Given the description of an element on the screen output the (x, y) to click on. 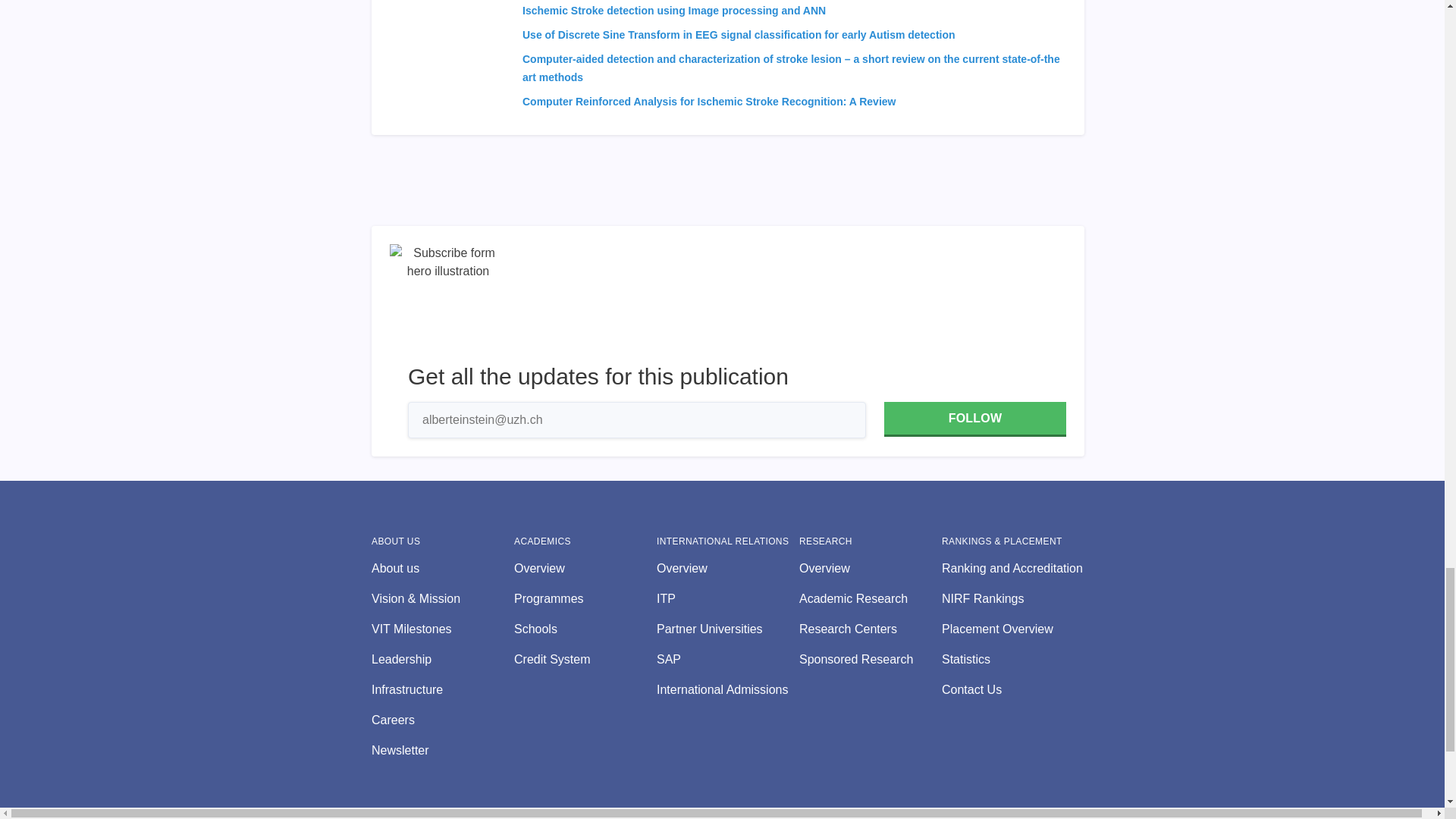
Credit System (584, 659)
Programmes (584, 598)
VIT Milestones (442, 628)
FOLLOW (974, 419)
Ischemic Stroke detection using Image processing and ANN (673, 10)
Subscribe form hero illustration (448, 302)
Newsletter (442, 751)
Infrastructure (442, 689)
